Given the description of an element on the screen output the (x, y) to click on. 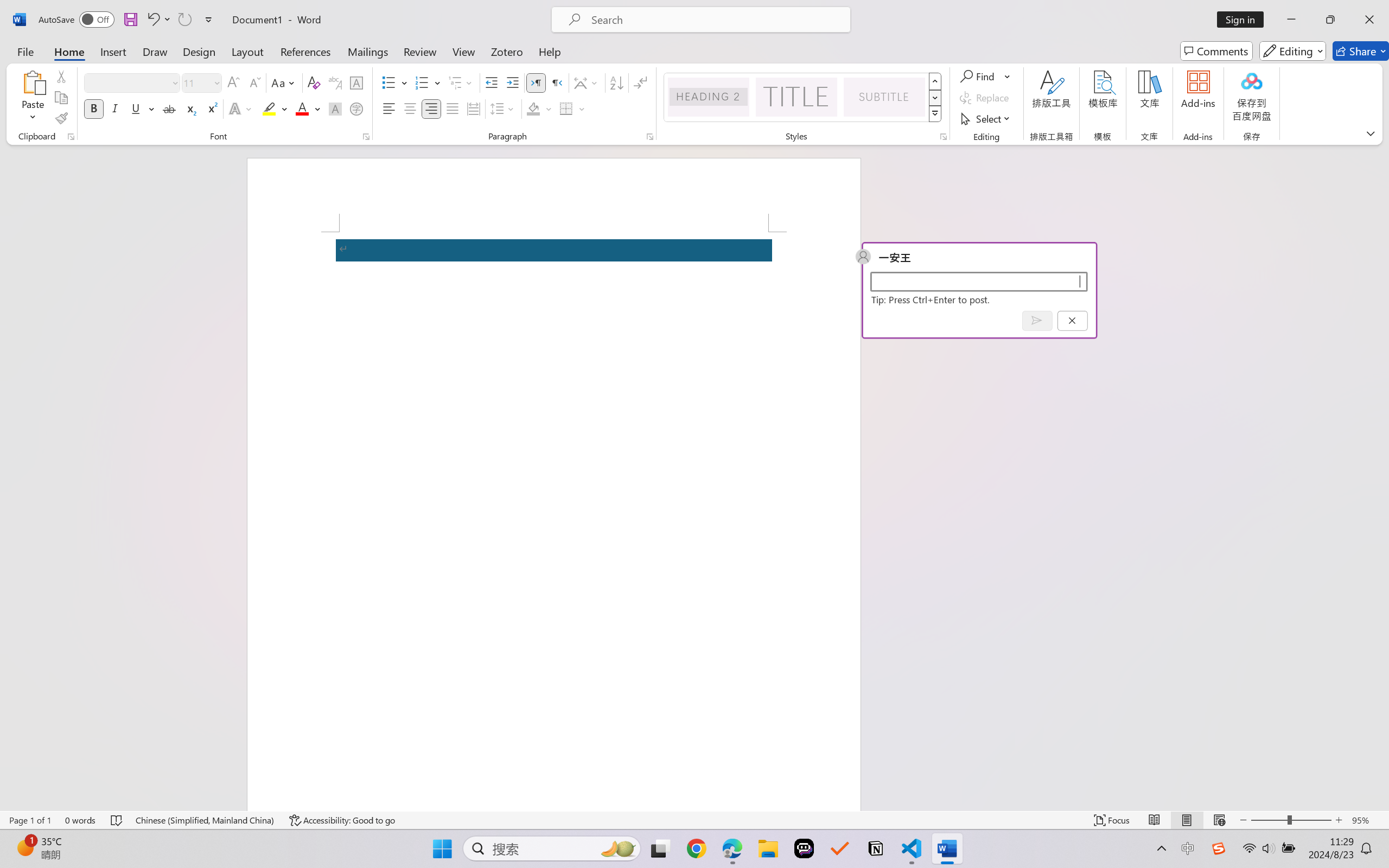
AutomationID: QuickStylesGallery (802, 97)
Font Color RGB(255, 0, 0) (302, 108)
